Given the description of an element on the screen output the (x, y) to click on. 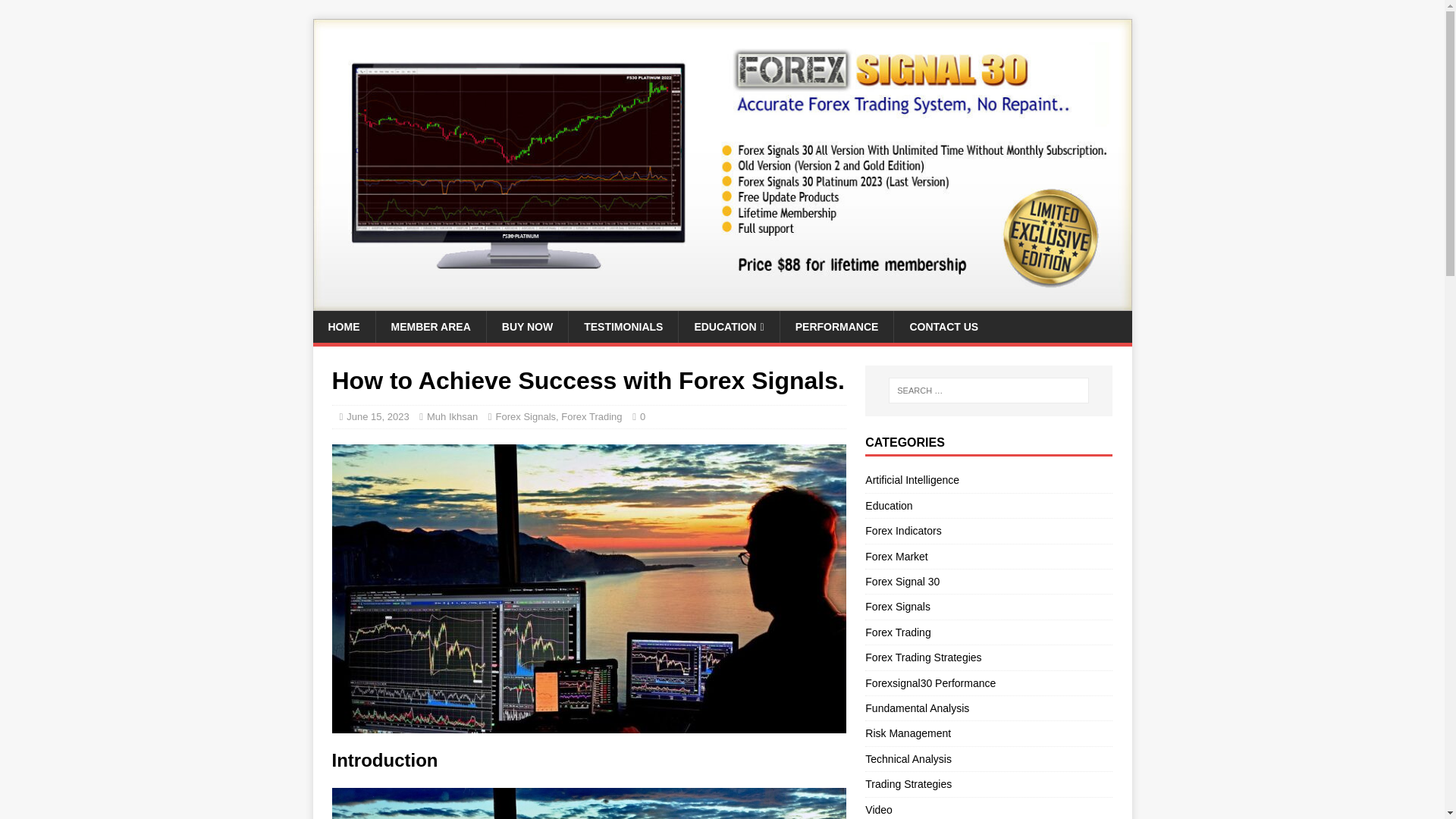
BUY NOW (526, 327)
Forex Signals (526, 416)
Muh Ikhsan (451, 416)
June 15, 2023 (377, 416)
TESTIMONIALS (622, 327)
PERFORMANCE (835, 327)
EDUCATION (728, 327)
HOME (343, 327)
New Forex Signal 30 Platinum (722, 301)
CONTACT US (942, 327)
Forex Trading (590, 416)
MEMBER AREA (429, 327)
